Given the description of an element on the screen output the (x, y) to click on. 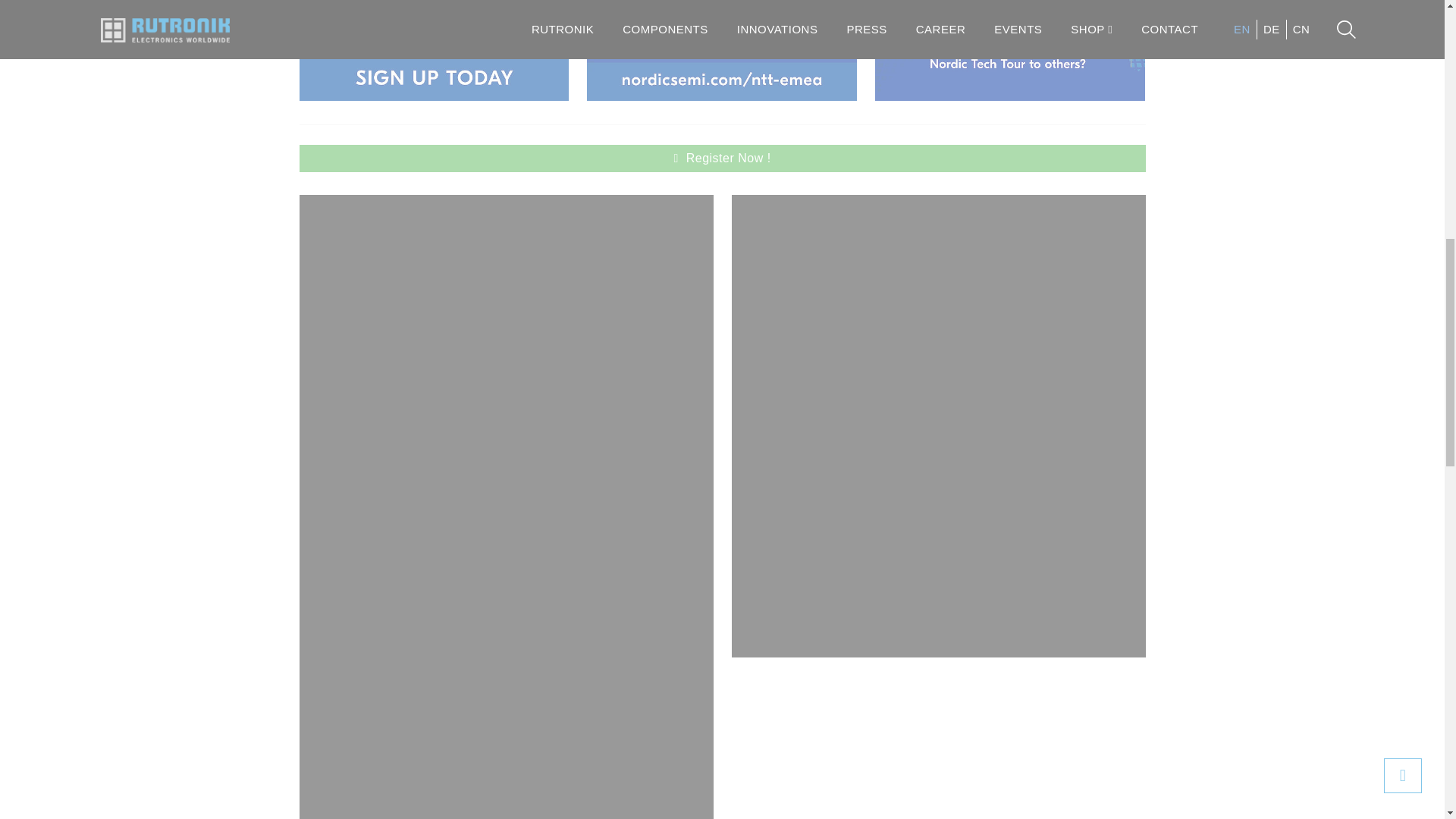
EMEA Appointments (721, 50)
Banner EMEA 2023 (433, 50)
Recommendation EMEA (1009, 50)
